Given the description of an element on the screen output the (x, y) to click on. 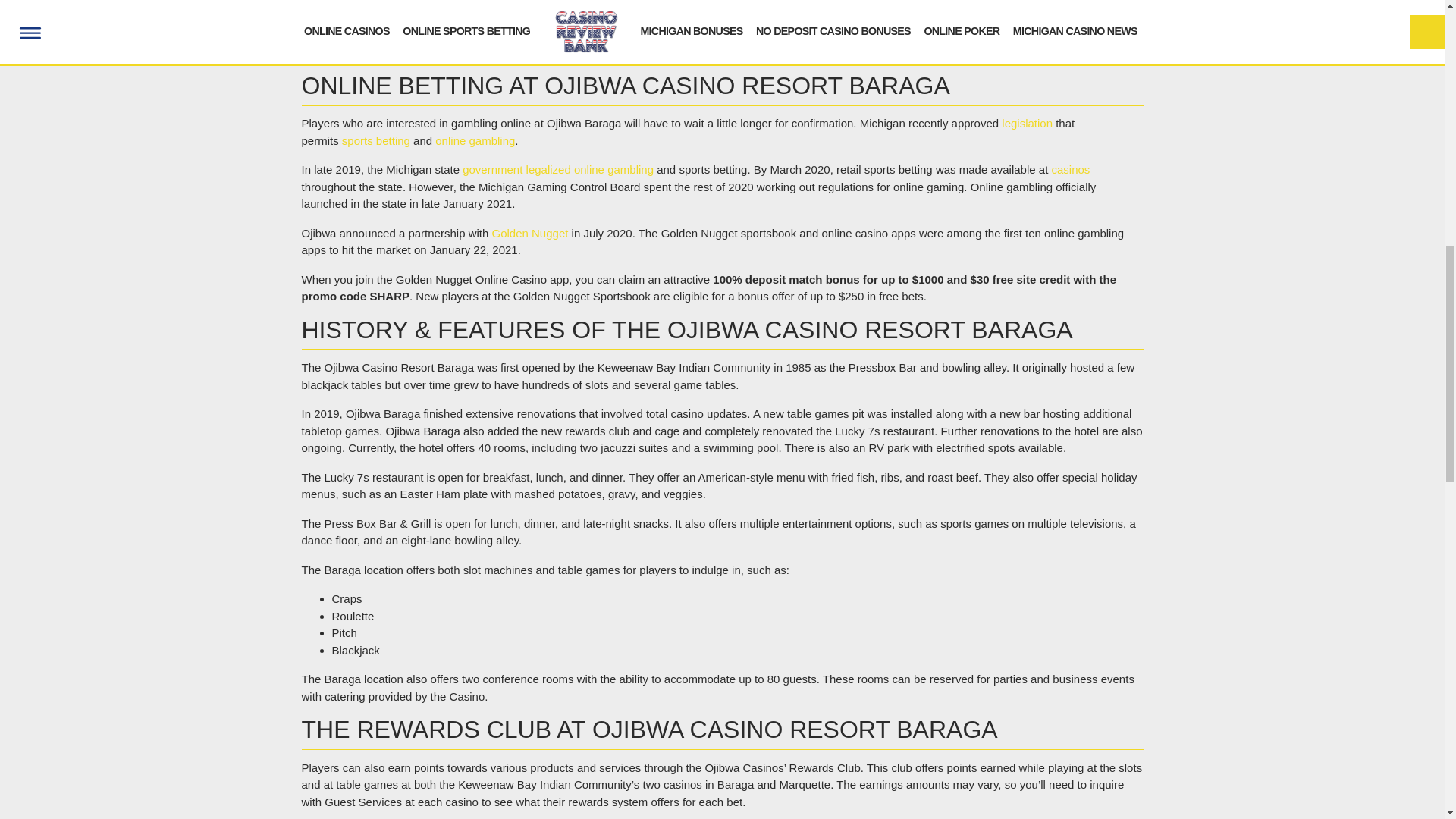
legislation (1026, 123)
Golden Nugget (529, 232)
sports betting (376, 140)
online gambling (475, 140)
government legalized online gambling (558, 169)
casinos (1070, 169)
